Given the description of an element on the screen output the (x, y) to click on. 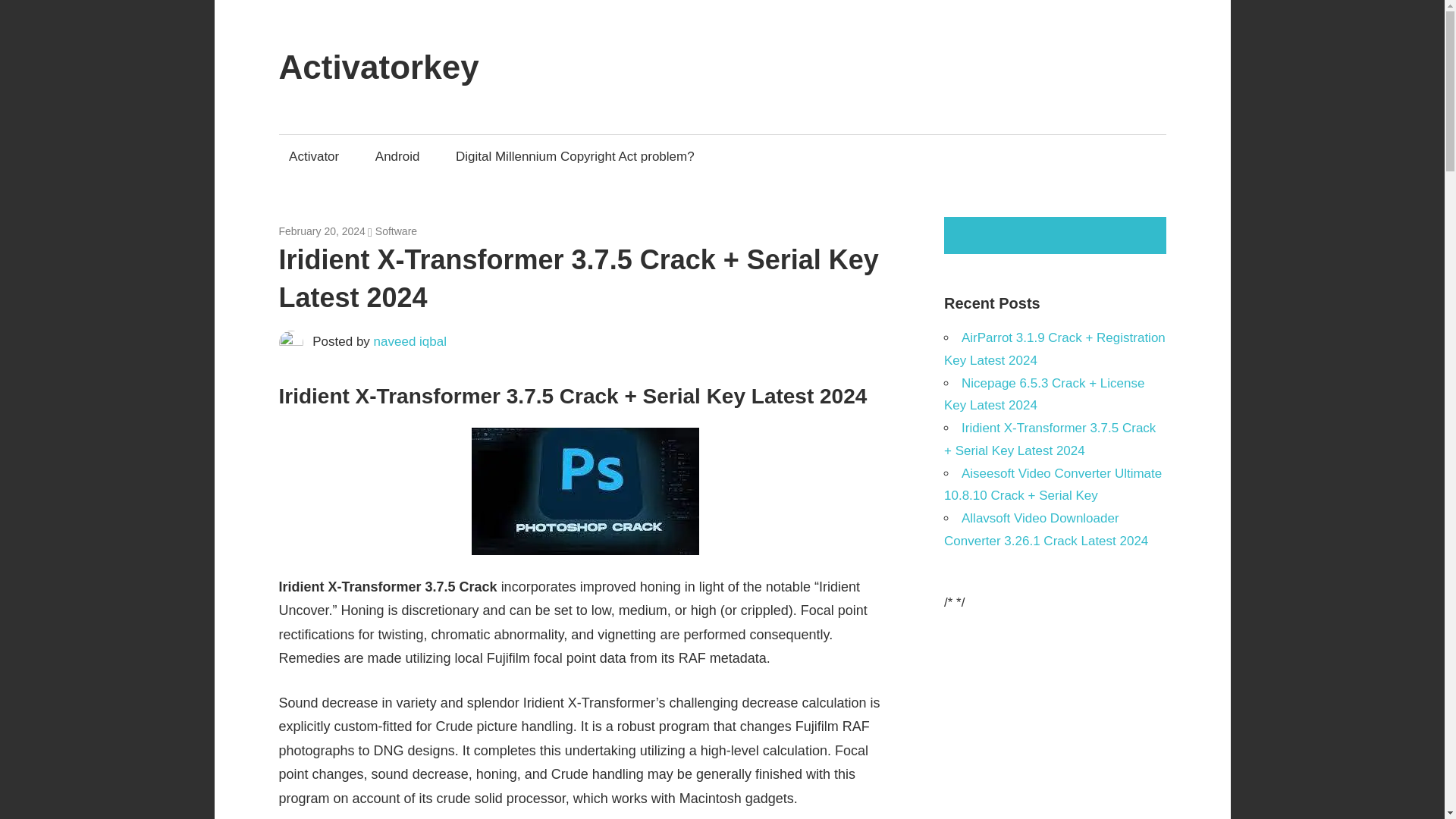
Digital Millennium Copyright Act problem? (574, 156)
Activator (314, 156)
Search for: (1057, 235)
12:02 pm (322, 231)
Activatorkey (379, 66)
View all posts by naveed iqbal (410, 341)
Android (397, 156)
February 20, 2024 (322, 231)
Software (395, 231)
